Given the description of an element on the screen output the (x, y) to click on. 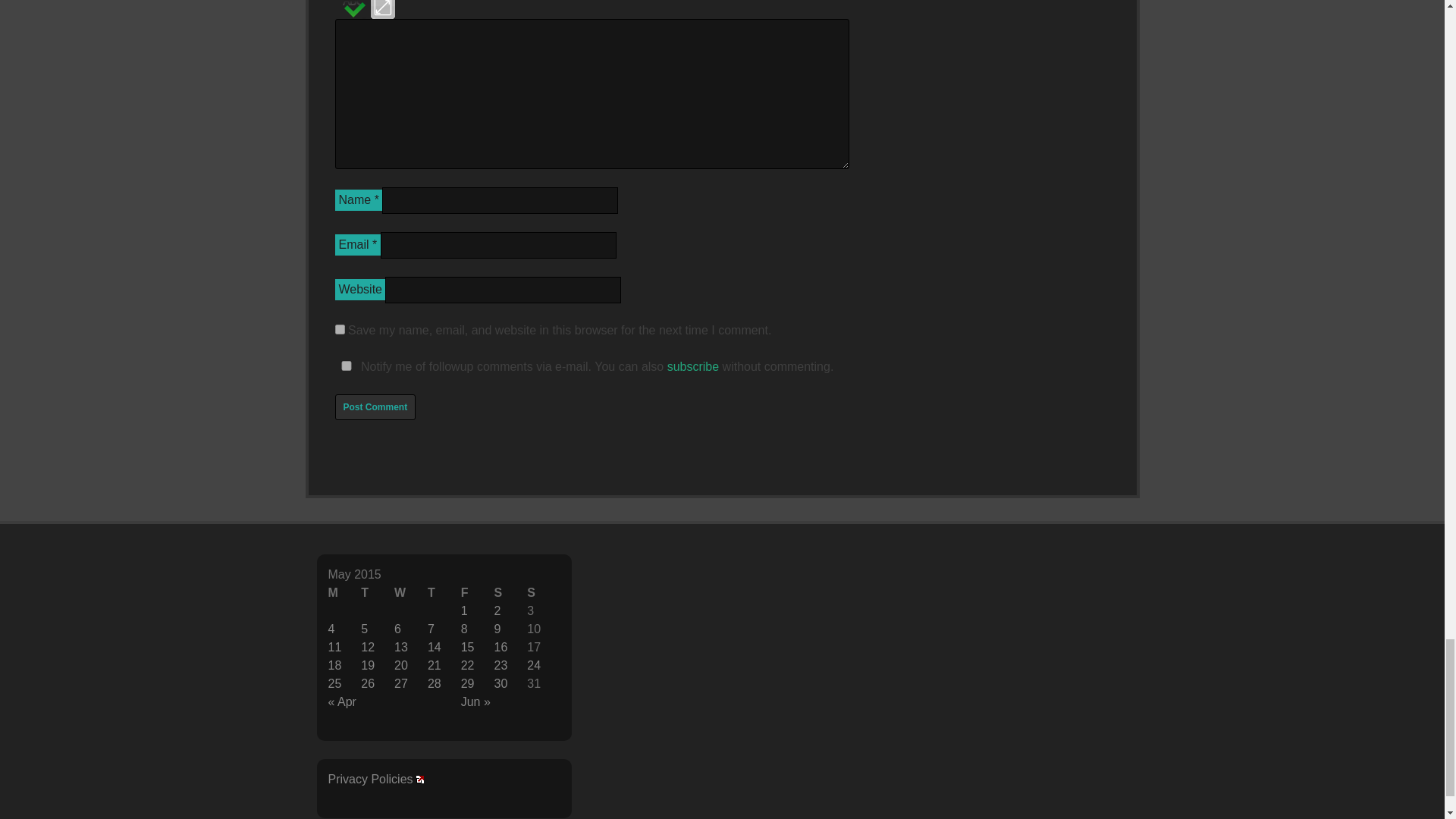
Tuesday (377, 592)
Friday (478, 592)
Post Comment (375, 406)
yes (339, 329)
Thursday (444, 592)
Sunday (543, 592)
Wednesday (411, 592)
yes (346, 366)
Saturday (510, 592)
Monday (344, 592)
